Given the description of an element on the screen output the (x, y) to click on. 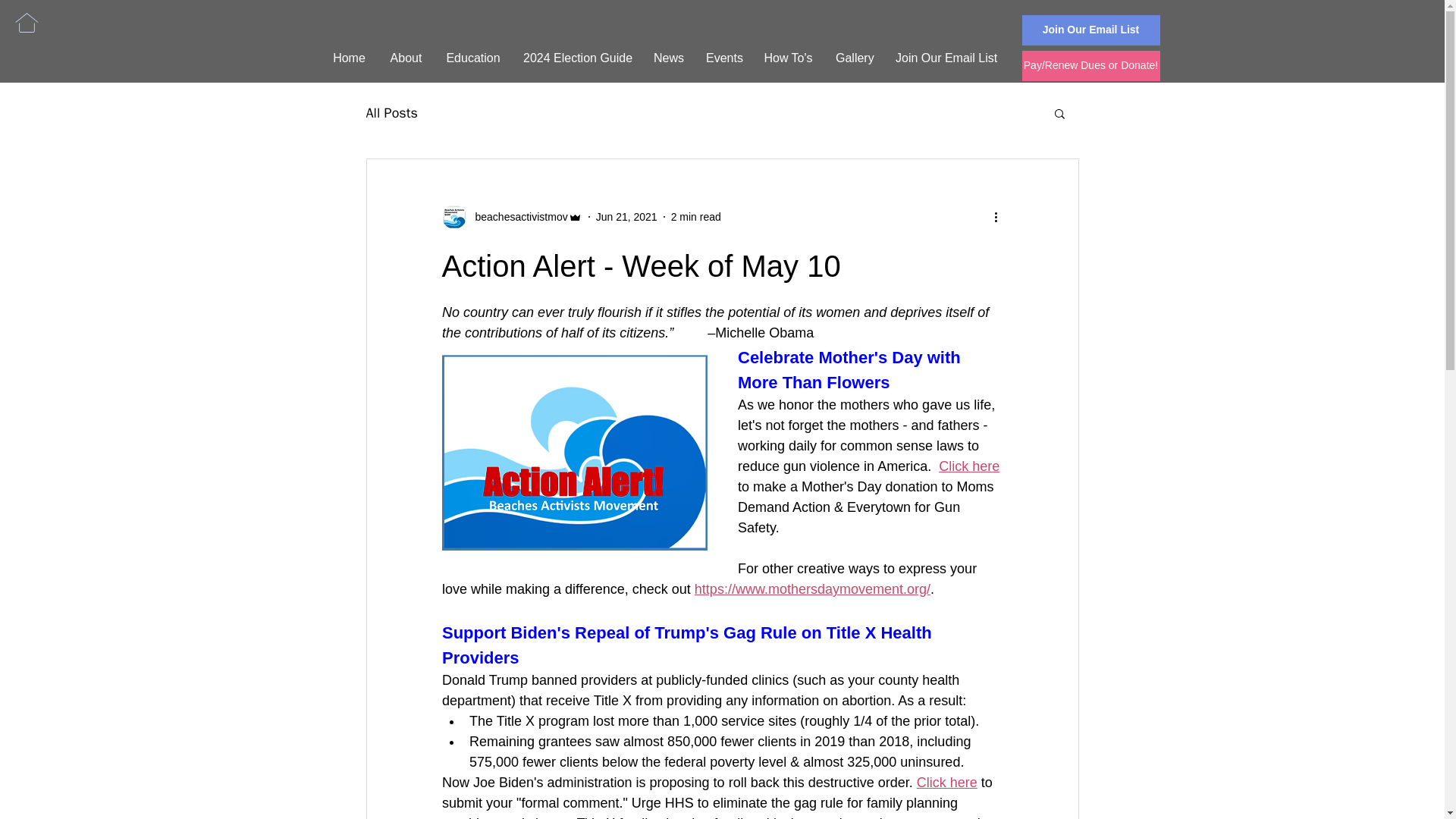
Click here (945, 782)
2 min read (695, 216)
Home (348, 58)
Click here (968, 466)
Education (472, 58)
How To's (788, 58)
All Posts (390, 113)
beachesactivistmov (510, 216)
2024 Election Guide (577, 58)
beachesactivistmov (516, 217)
About (405, 58)
Join Our Email List (1091, 30)
Join Our Email List (945, 58)
Events (723, 58)
News (668, 58)
